Given the description of an element on the screen output the (x, y) to click on. 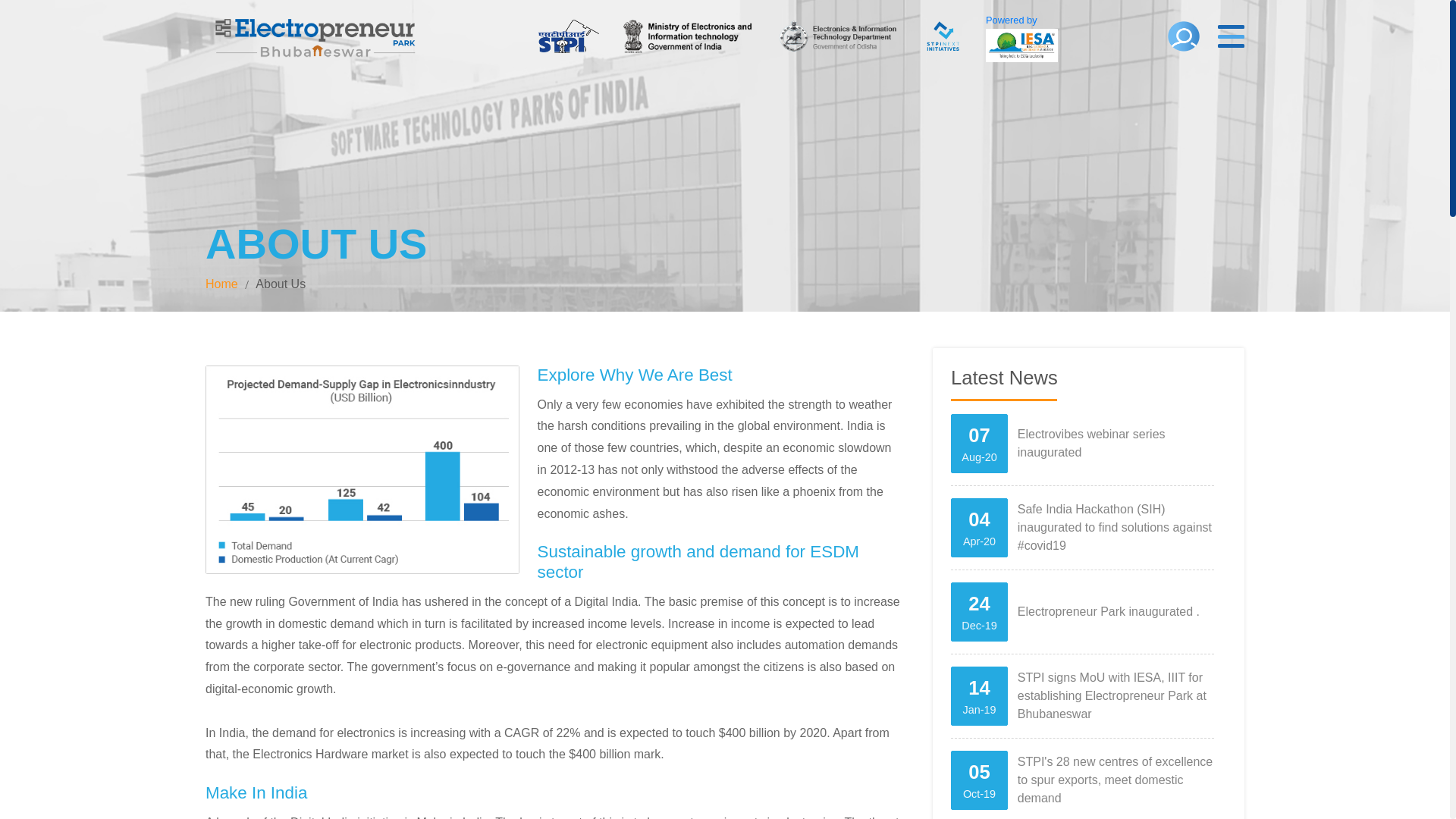
Home (221, 283)
Powered by (1082, 450)
